Given the description of an element on the screen output the (x, y) to click on. 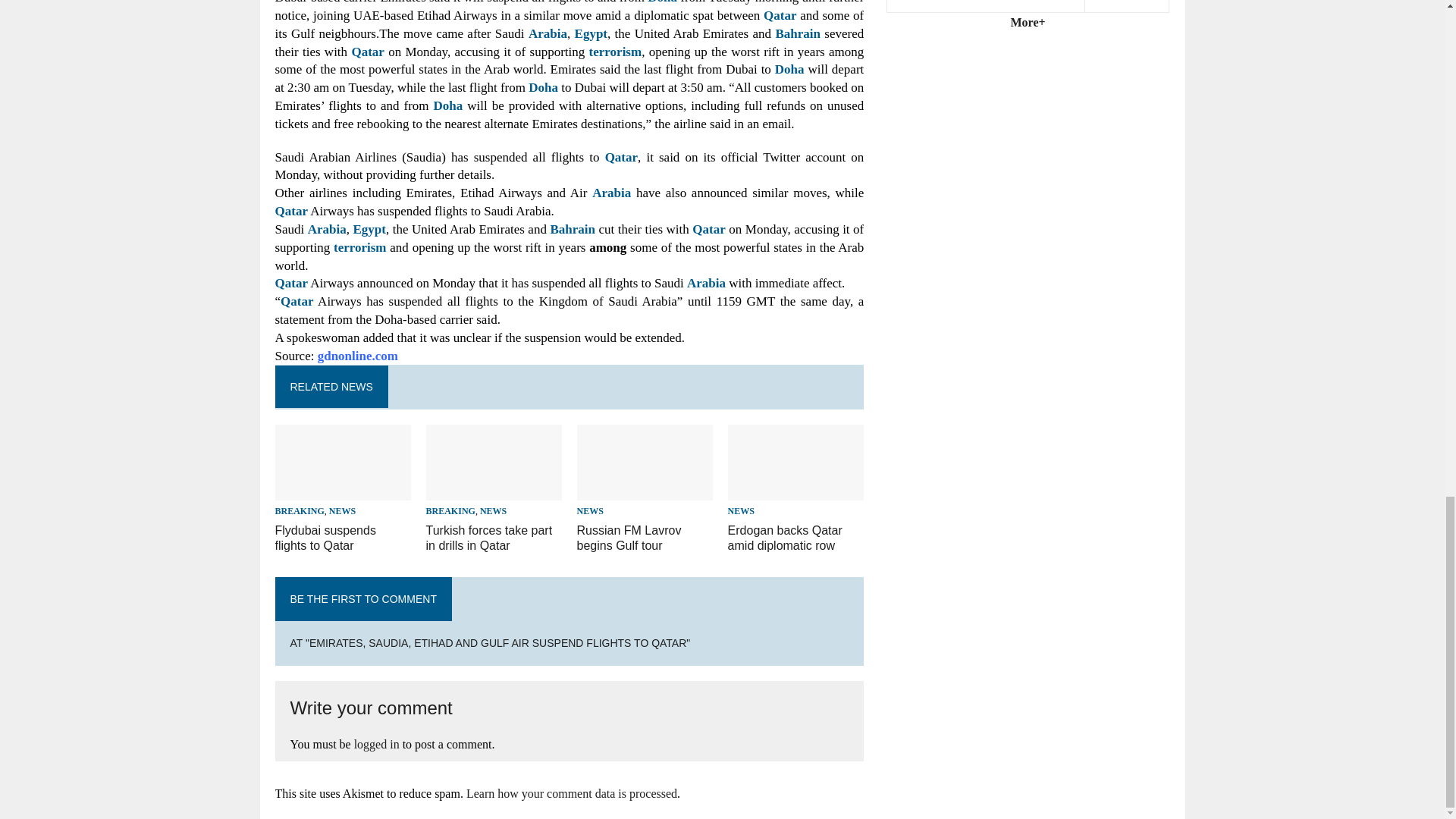
Erdogan backs Qatar amid diplomatic row (796, 490)
Russian FM Lavrov begins Gulf tour (644, 490)
Russian FM Lavrov begins Gulf tour (628, 538)
Turkish forces take part in drills in Qatar (489, 538)
Flydubai suspends flights to Qatar (325, 538)
Flydubai suspends flights to Qatar (342, 490)
Turkish forces take part in drills in Qatar (494, 490)
